Given the description of an element on the screen output the (x, y) to click on. 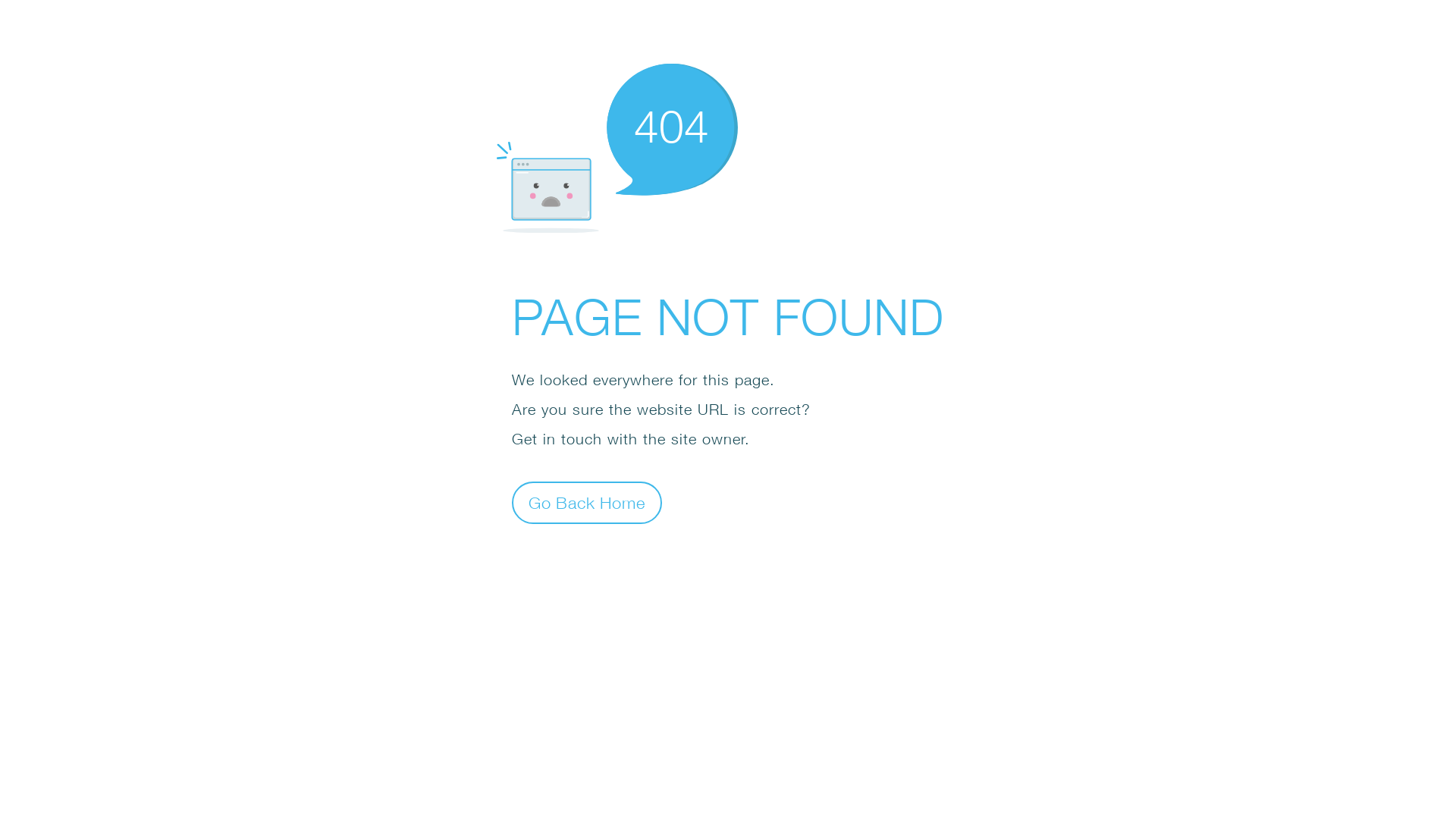
Go Back Home Element type: text (586, 502)
